Given the description of an element on the screen output the (x, y) to click on. 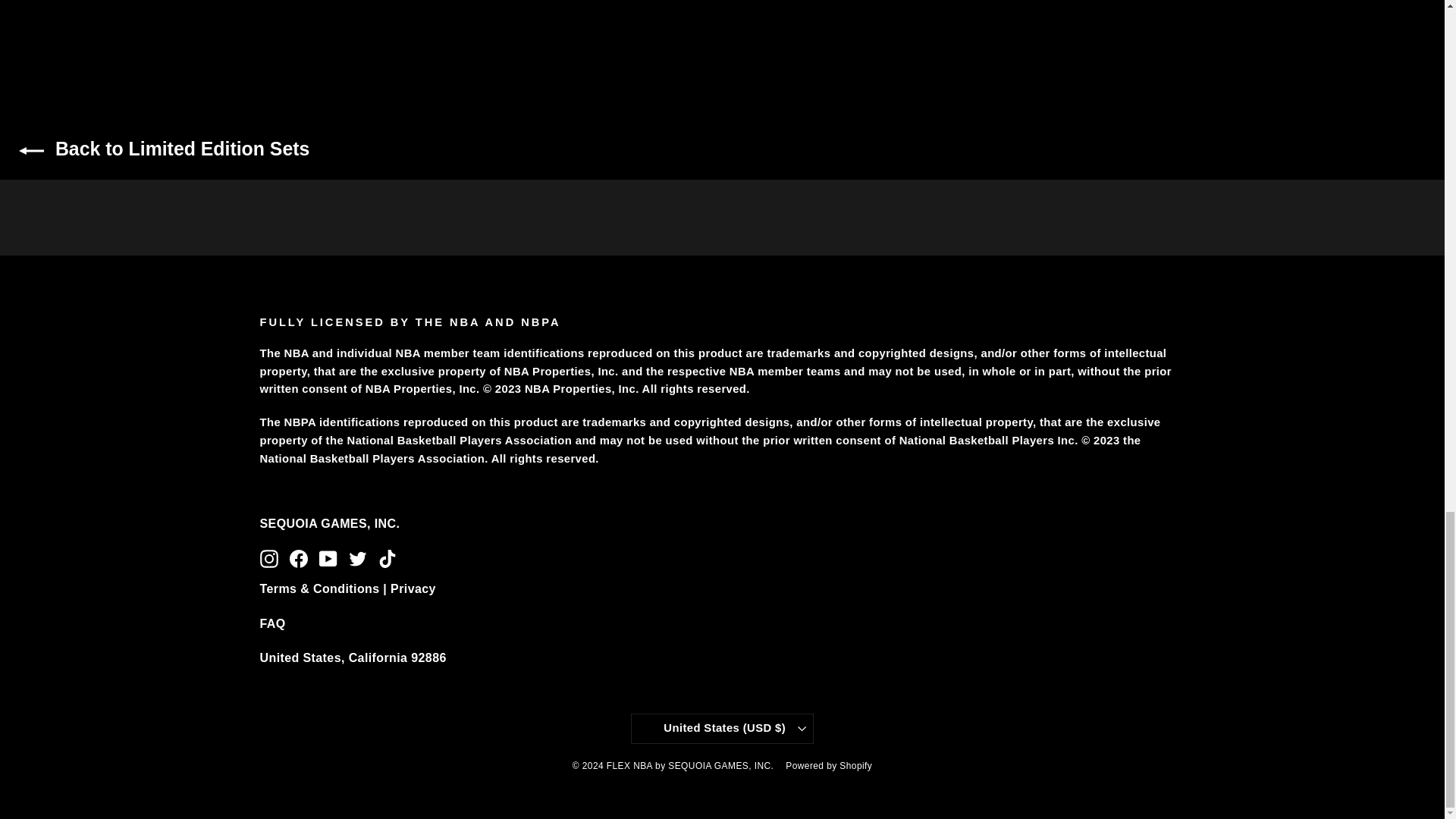
TERMS (347, 588)
FLEX NBA by SEQUOIA GAMES, INC. on TikTok (386, 557)
FLEX NBA by SEQUOIA GAMES, INC. on Twitter (357, 557)
FLEX NBA by SEQUOIA GAMES, INC. on Instagram (268, 557)
FLEX NBA by SEQUOIA GAMES, INC. on YouTube (327, 557)
FLEX NBA by SEQUOIA GAMES, INC. on Facebook (298, 557)
FAQ (272, 623)
